Given the description of an element on the screen output the (x, y) to click on. 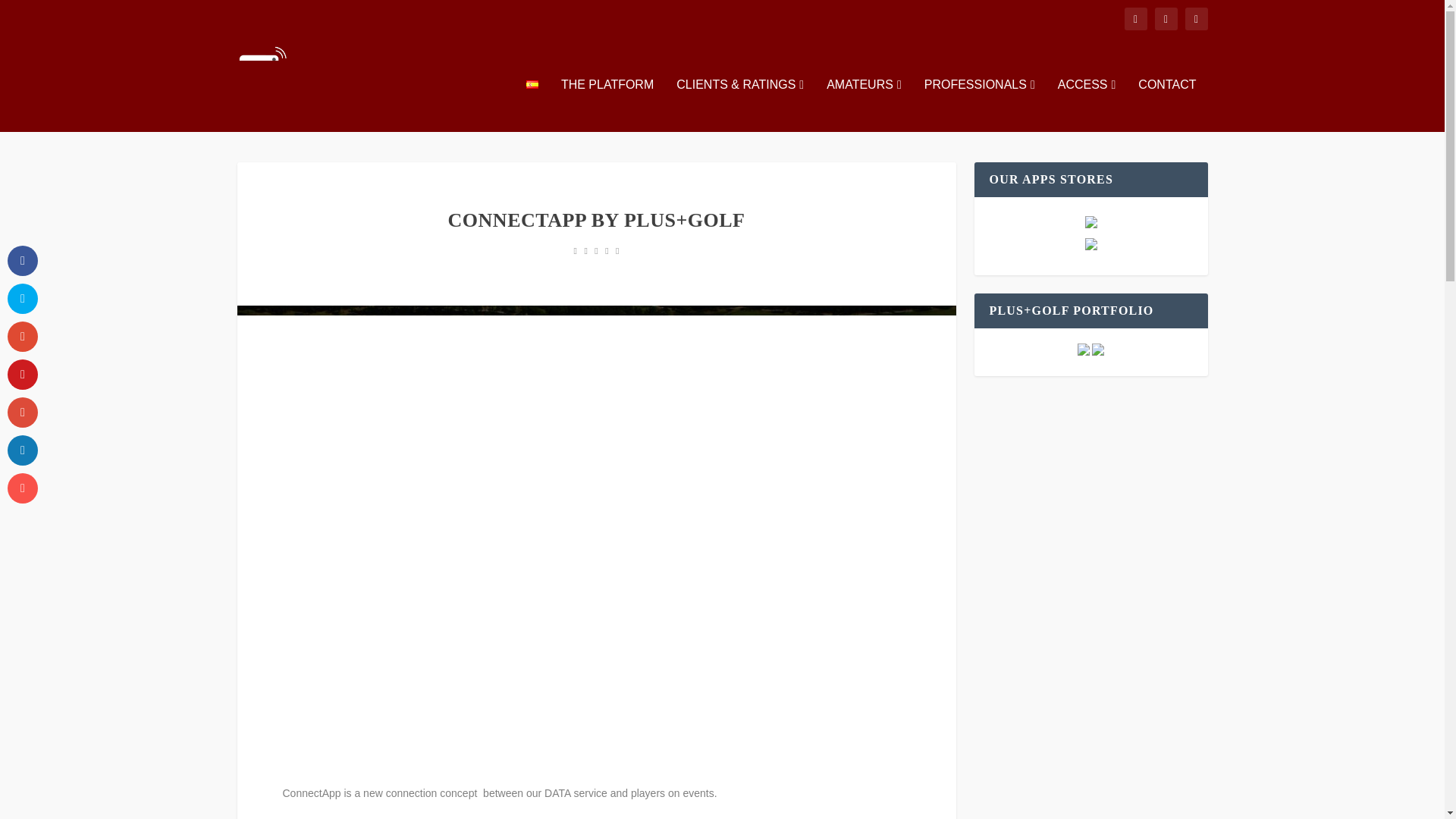
CONTACT (1166, 104)
THE PLATFORM (606, 104)
PROFESSIONALS (979, 104)
AMATEURS (864, 104)
Rating: 5.00 (596, 250)
ACCESS (1087, 104)
